Given the description of an element on the screen output the (x, y) to click on. 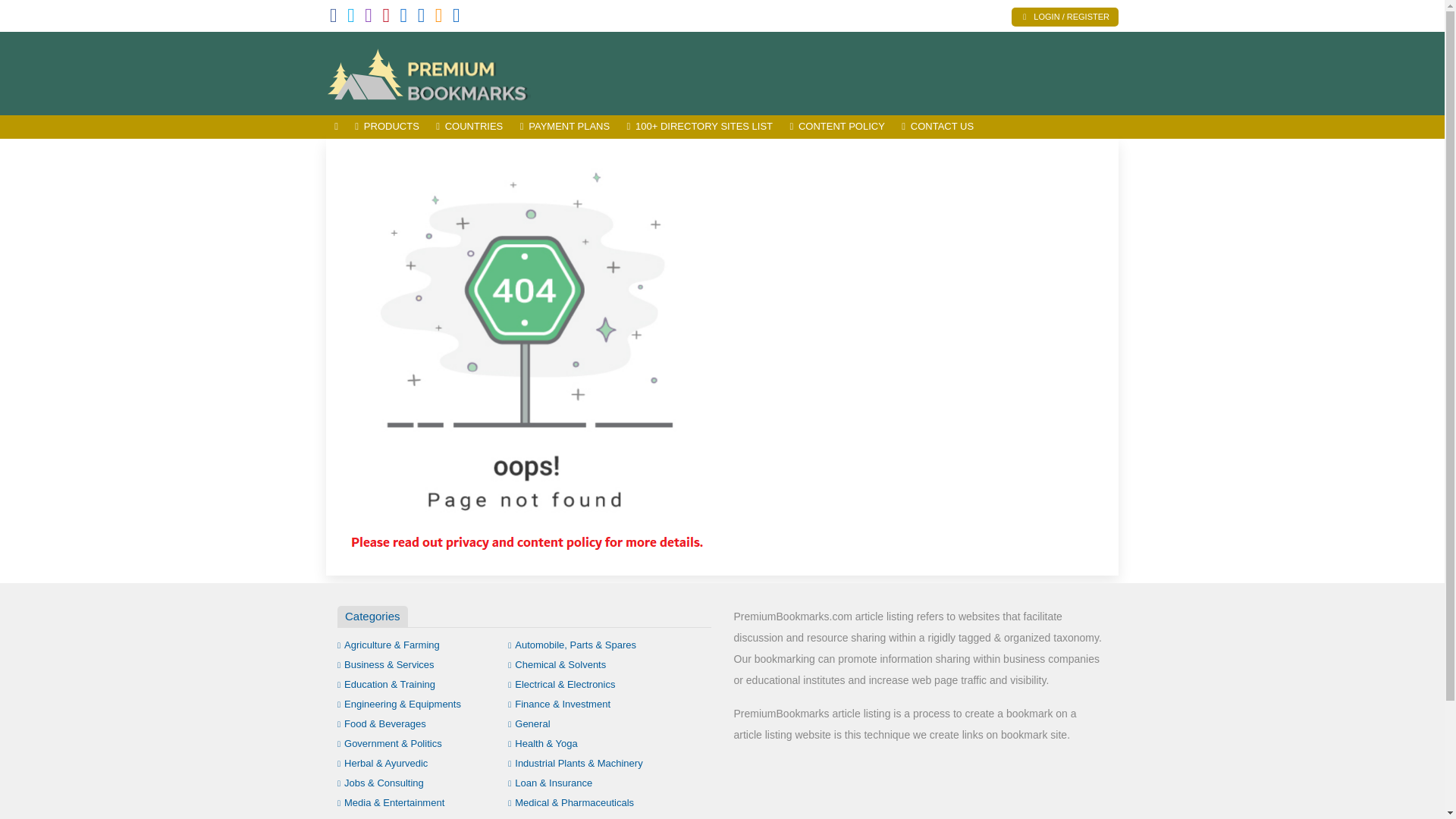
PAYMENT PLANS (564, 126)
CONTACT US (937, 126)
General (529, 723)
COUNTRIES (469, 126)
CONTENT POLICY (836, 126)
PRODUCTS (387, 126)
